Given the description of an element on the screen output the (x, y) to click on. 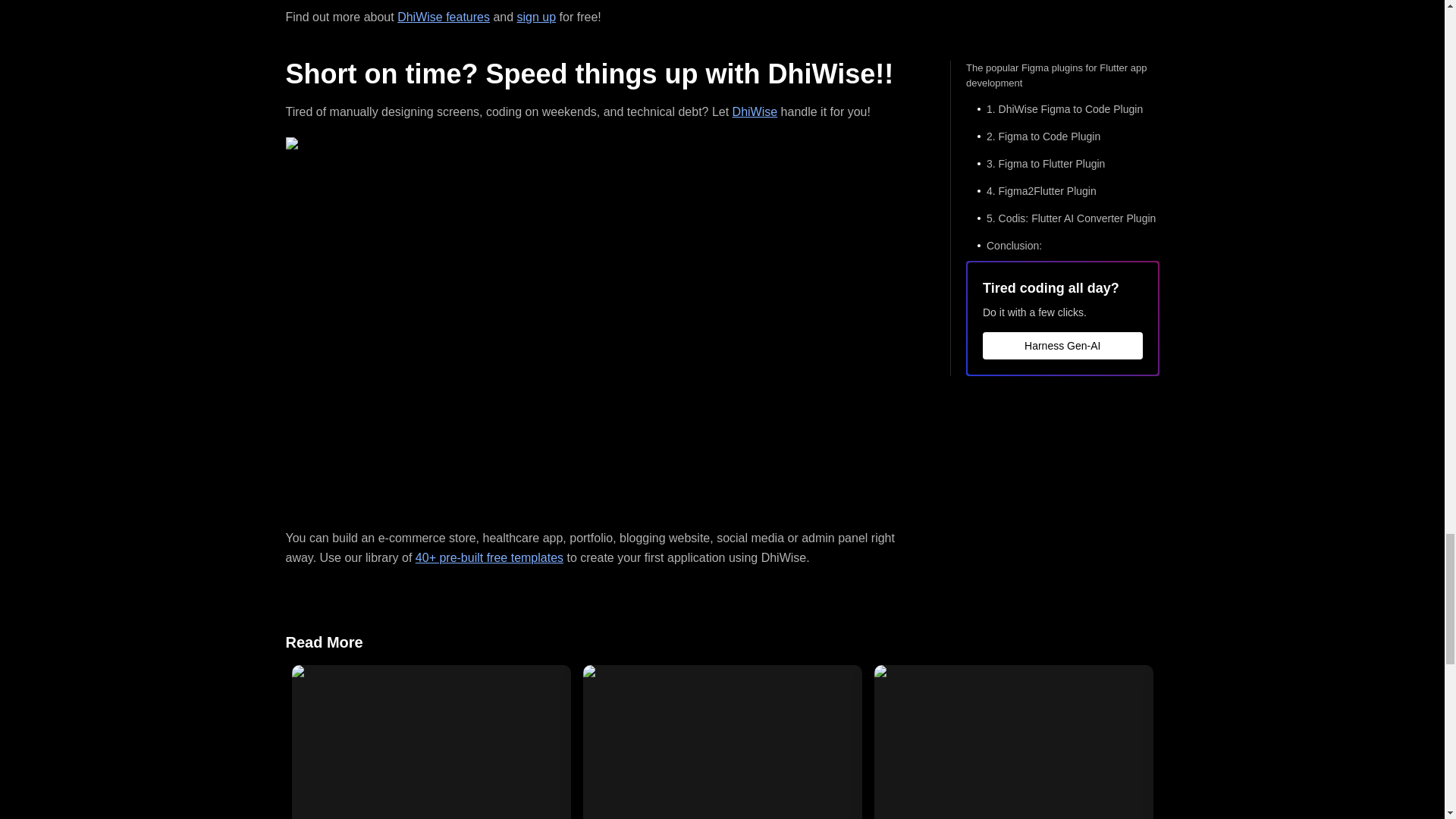
Convert Figma to React Code (721, 742)
DhiWise (754, 111)
DhiWise features (443, 16)
How to Convert Your Design in Figma to Flutter Code (430, 742)
sign up (536, 16)
